Given the description of an element on the screen output the (x, y) to click on. 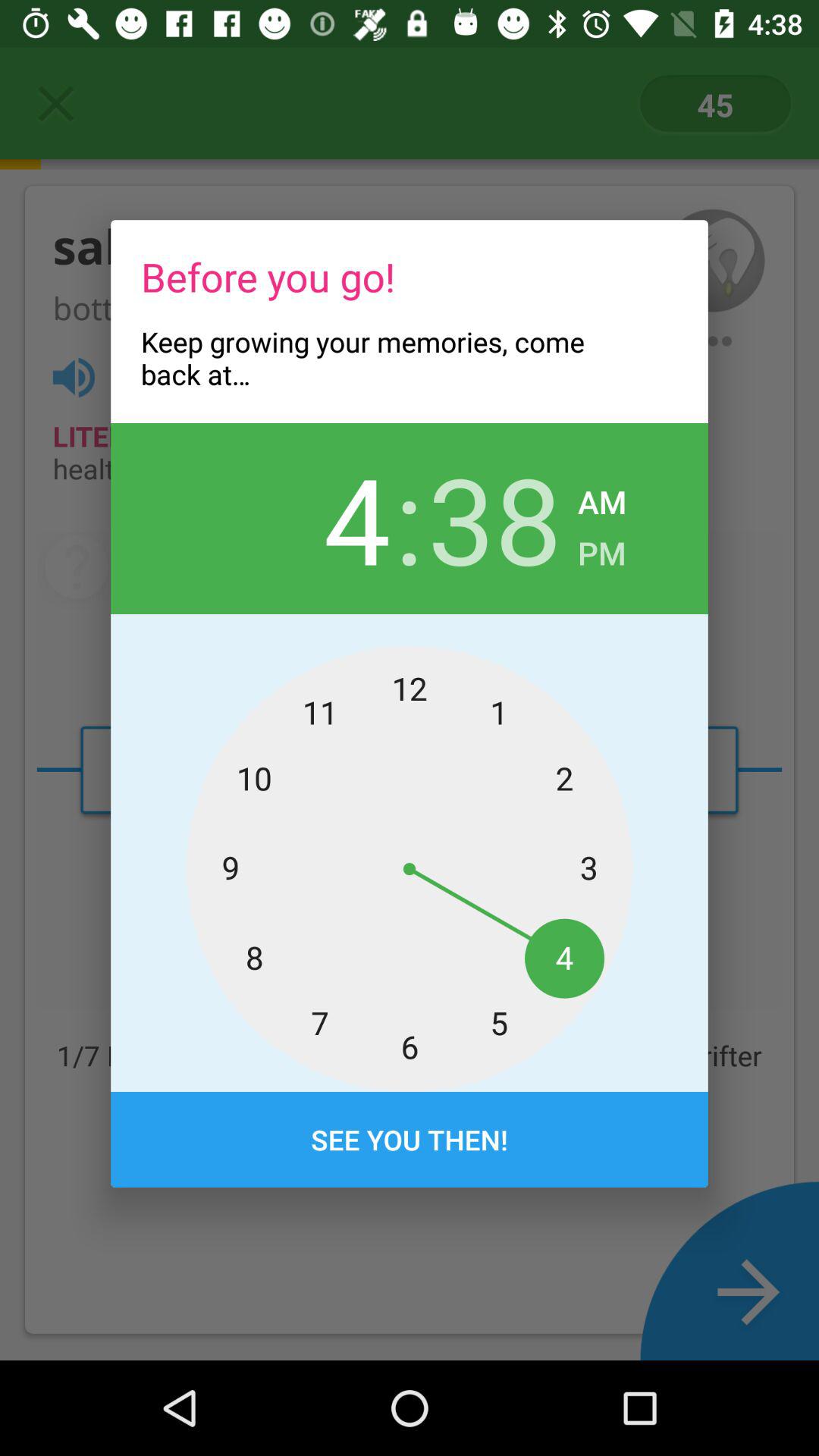
turn off the item to the right of the 38 icon (601, 497)
